Given the description of an element on the screen output the (x, y) to click on. 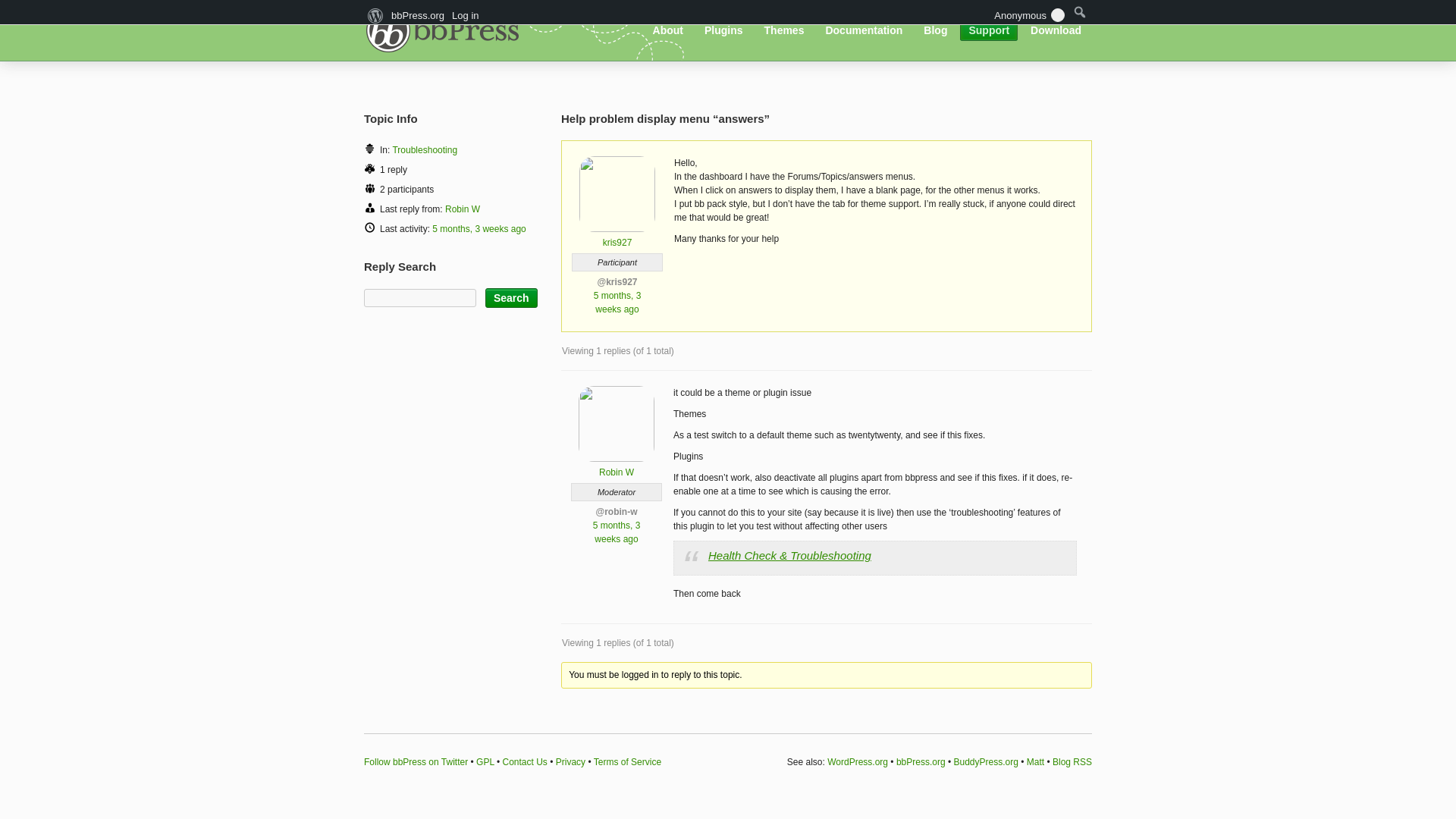
Themes (783, 29)
Robin W (462, 208)
Robin W (616, 466)
Blog (935, 29)
Search (510, 297)
5 months, 3 weeks ago (618, 302)
bbPress.org (447, 29)
Documentation (863, 29)
Plugins (723, 29)
5 months, 3 weeks ago (616, 532)
